Given the description of an element on the screen output the (x, y) to click on. 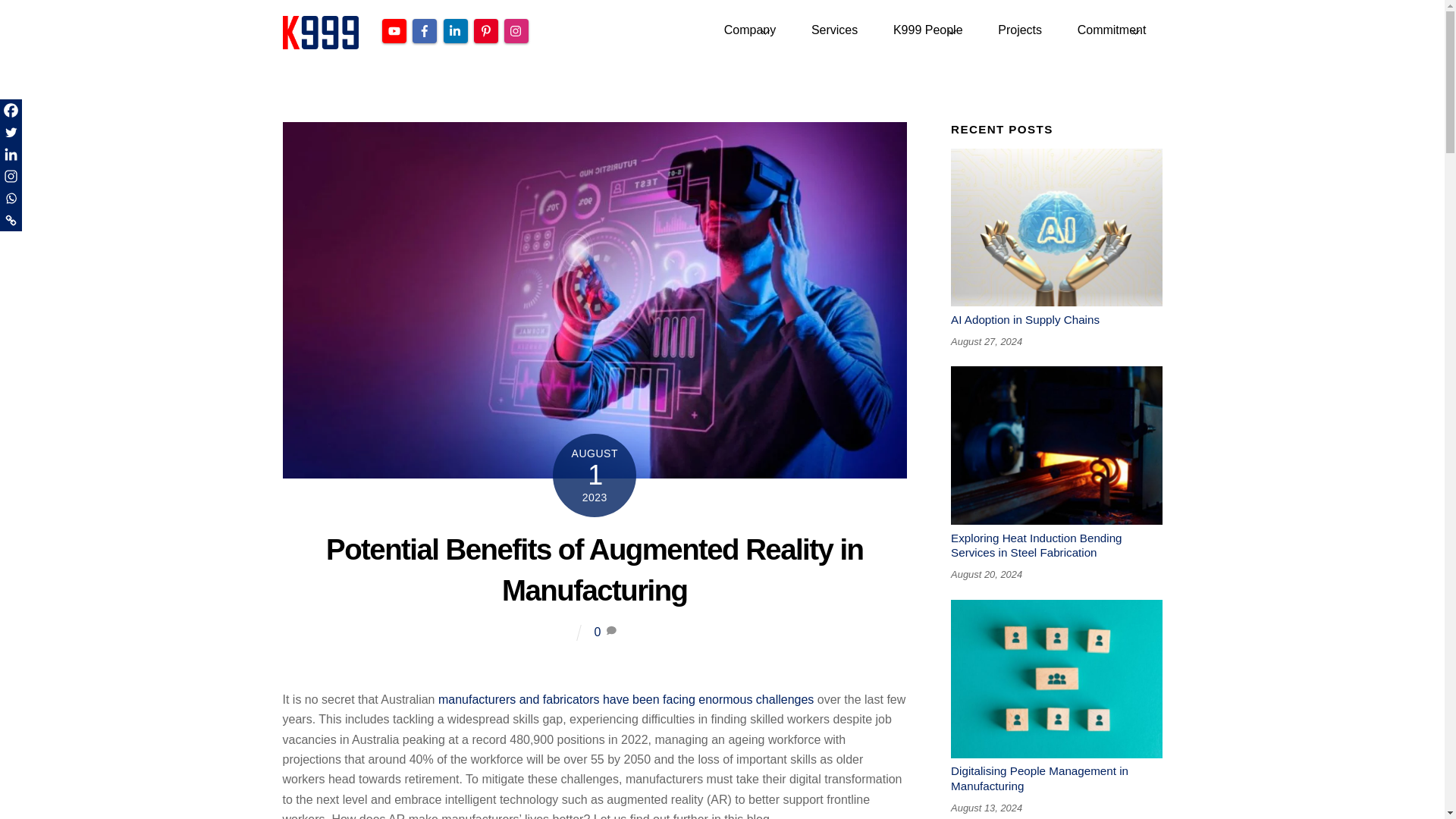
k999thailand (320, 42)
9479 (1055, 678)
Linkedin (10, 154)
Commitment (1110, 30)
Facebook (10, 110)
Whatsapp (10, 198)
Projects (1019, 30)
Company (749, 30)
Instagram (721, 30)
